Given the description of an element on the screen output the (x, y) to click on. 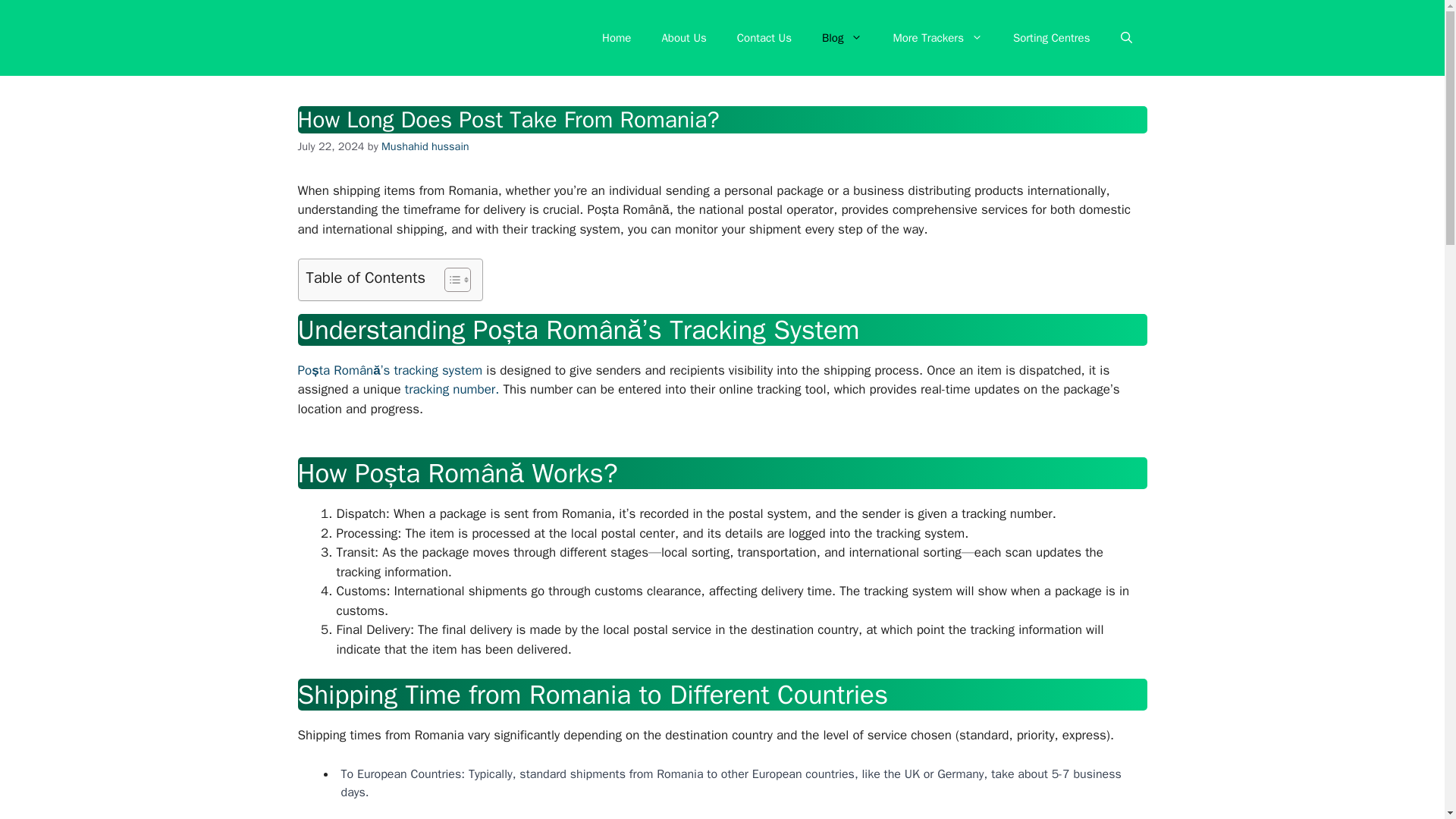
Blog (841, 37)
View all posts by Mushahid hussain (424, 146)
About Us (683, 37)
Sorting Centres (1051, 37)
More Trackers (937, 37)
Home (616, 37)
tracking number. (451, 389)
Contact Us (764, 37)
Mushahid hussain (424, 146)
